Given the description of an element on the screen output the (x, y) to click on. 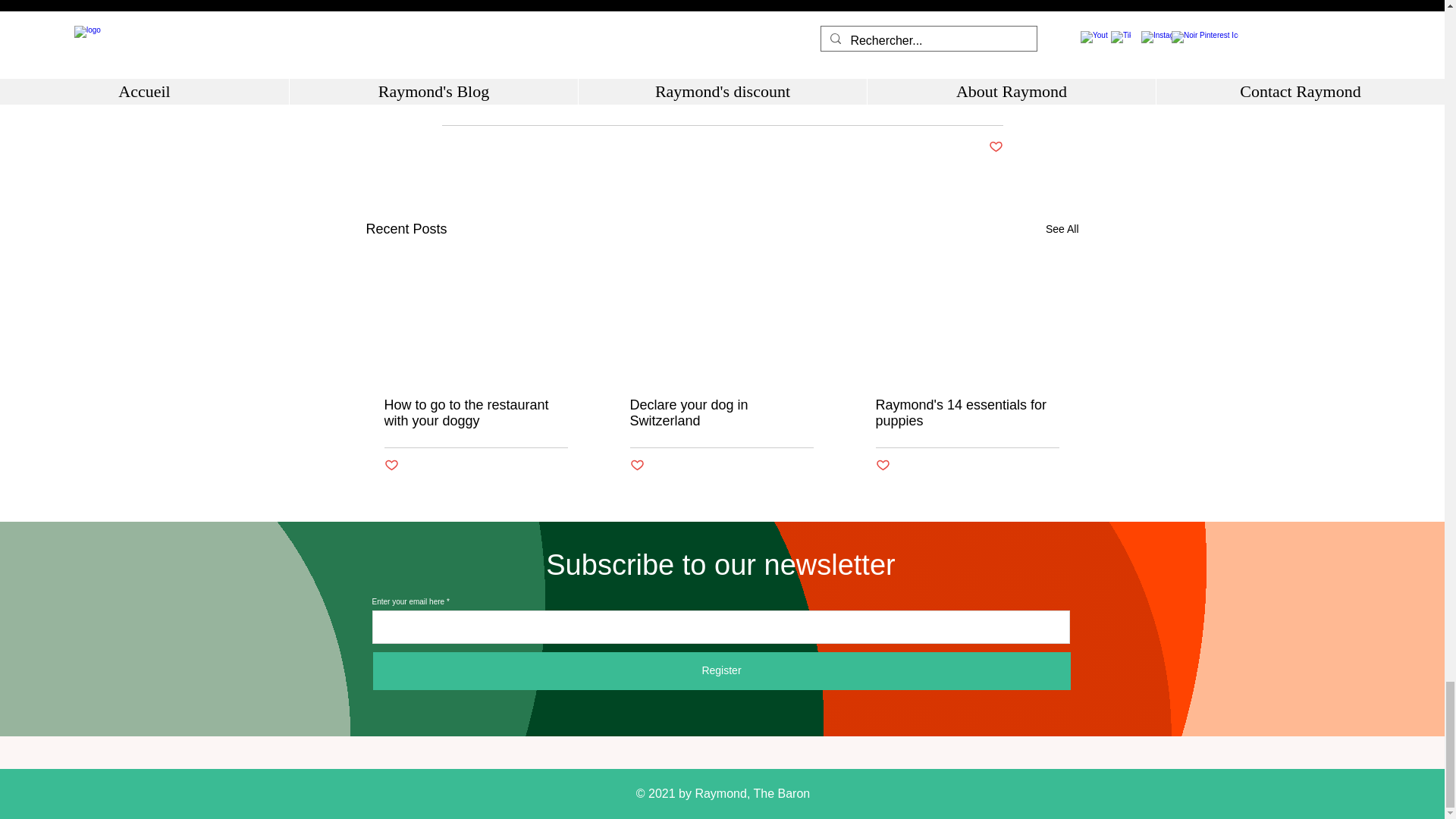
Declare your dog in Switzerland (720, 413)
EDUCATION (899, 101)
LIFESTYLE (975, 101)
Post not marked as liked (390, 465)
See All (1061, 229)
Post not marked as liked (995, 147)
How to go to the restaurant with your doggy (475, 413)
